Given the description of an element on the screen output the (x, y) to click on. 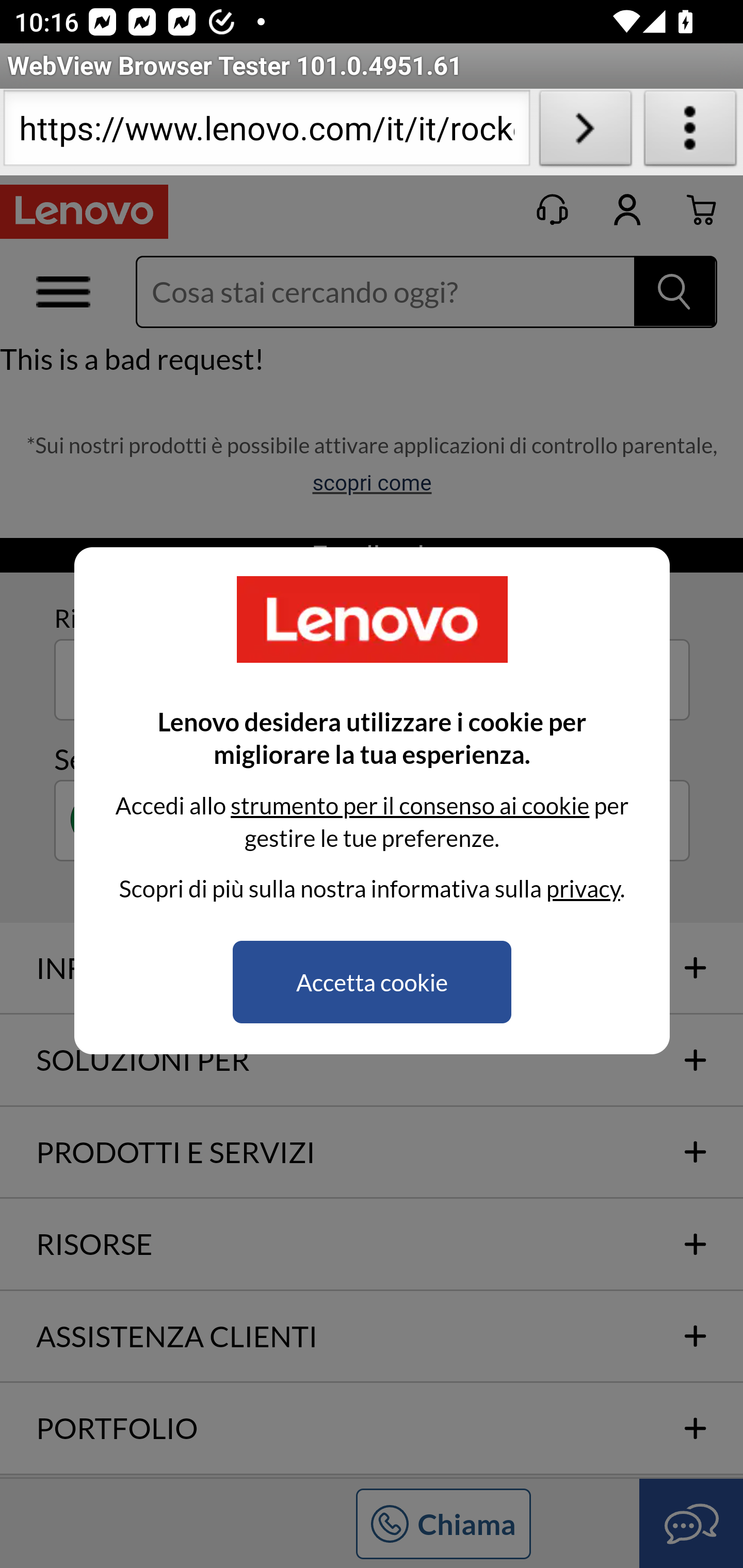
Load URL (585, 132)
About WebView (690, 132)
strumento per il consenso ai cookie (408, 805)
privacy (583, 888)
Accetta cookie (371, 981)
